Given the description of an element on the screen output the (x, y) to click on. 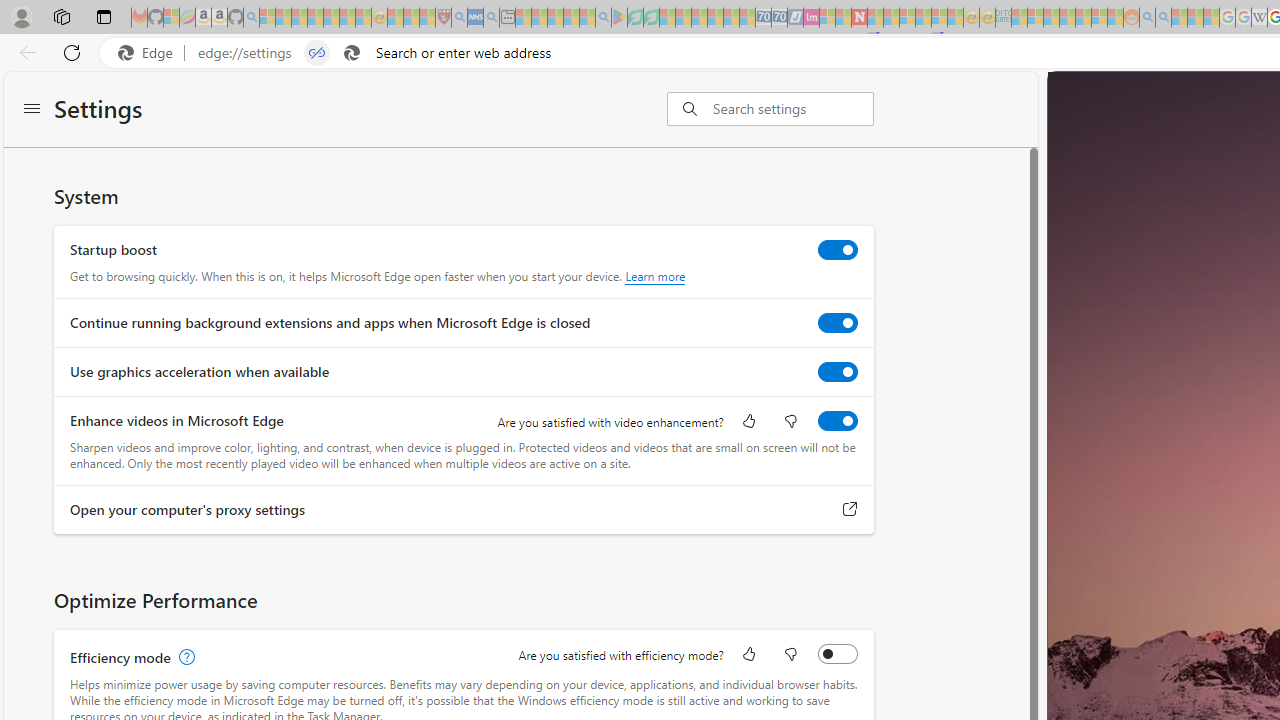
Efficiency mode (837, 653)
Search settings (791, 109)
View comments 15 Comment (1238, 541)
Startup boost (837, 249)
Efficiency mode, learn more (184, 657)
